Given the description of an element on the screen output the (x, y) to click on. 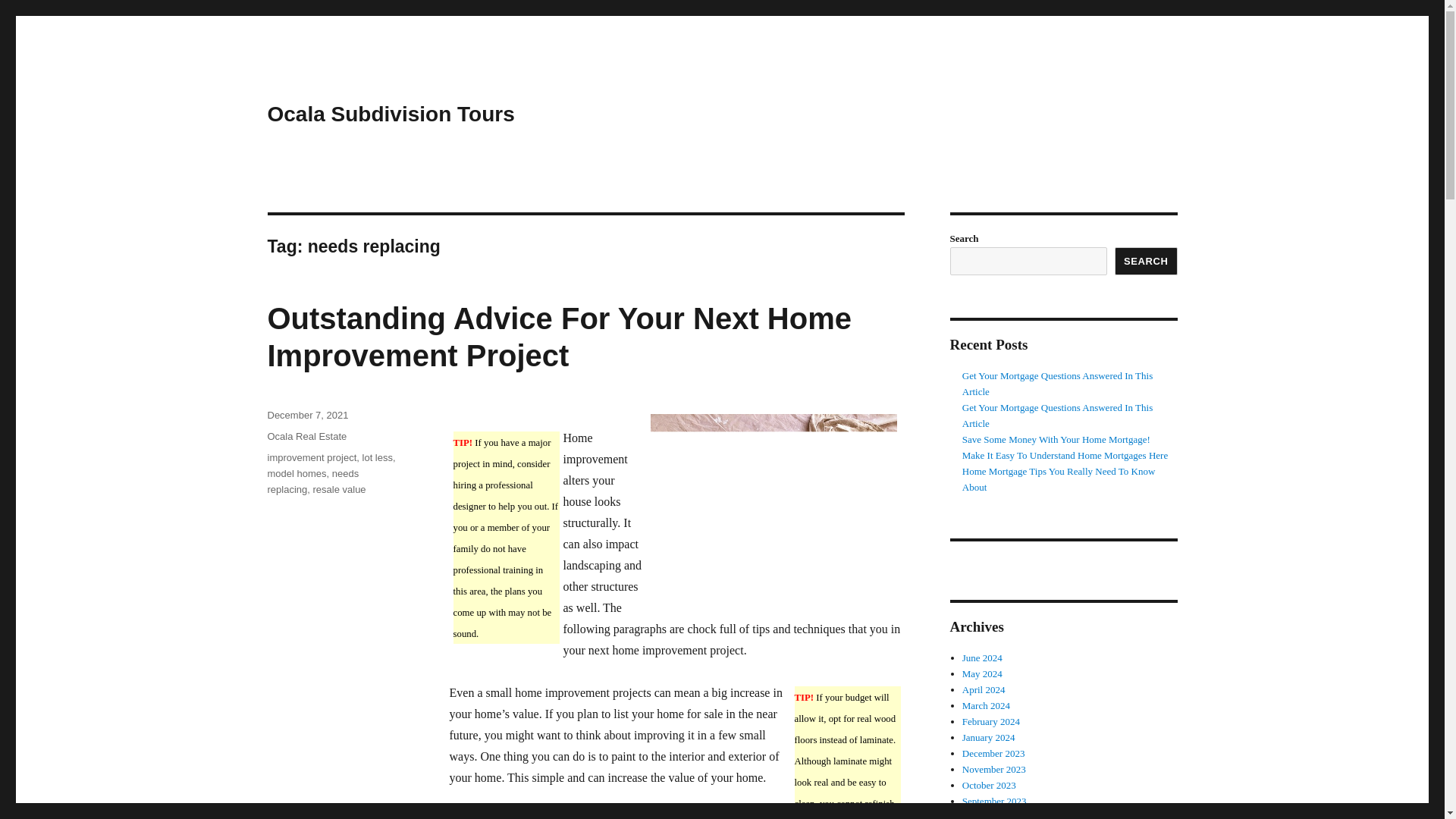
lot less (377, 457)
January 2024 (988, 737)
November 2023 (994, 768)
August 2023 (987, 815)
SEARCH (1146, 261)
Make It Easy To Understand Home Mortgages Here (1064, 455)
February 2024 (991, 721)
December 7, 2021 (306, 414)
May 2024 (982, 673)
resale value (339, 489)
Ocala Real Estate (306, 436)
model homes (296, 473)
March 2024 (986, 705)
September 2023 (994, 800)
Get Your Mortgage Questions Answered In This Article (1057, 383)
